Given the description of an element on the screen output the (x, y) to click on. 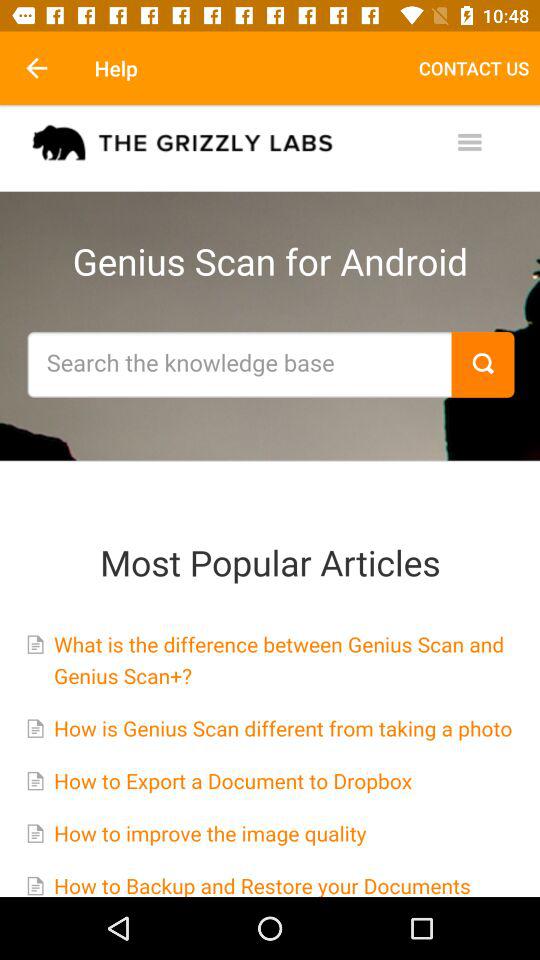
turn on icon at the center (270, 500)
